Given the description of an element on the screen output the (x, y) to click on. 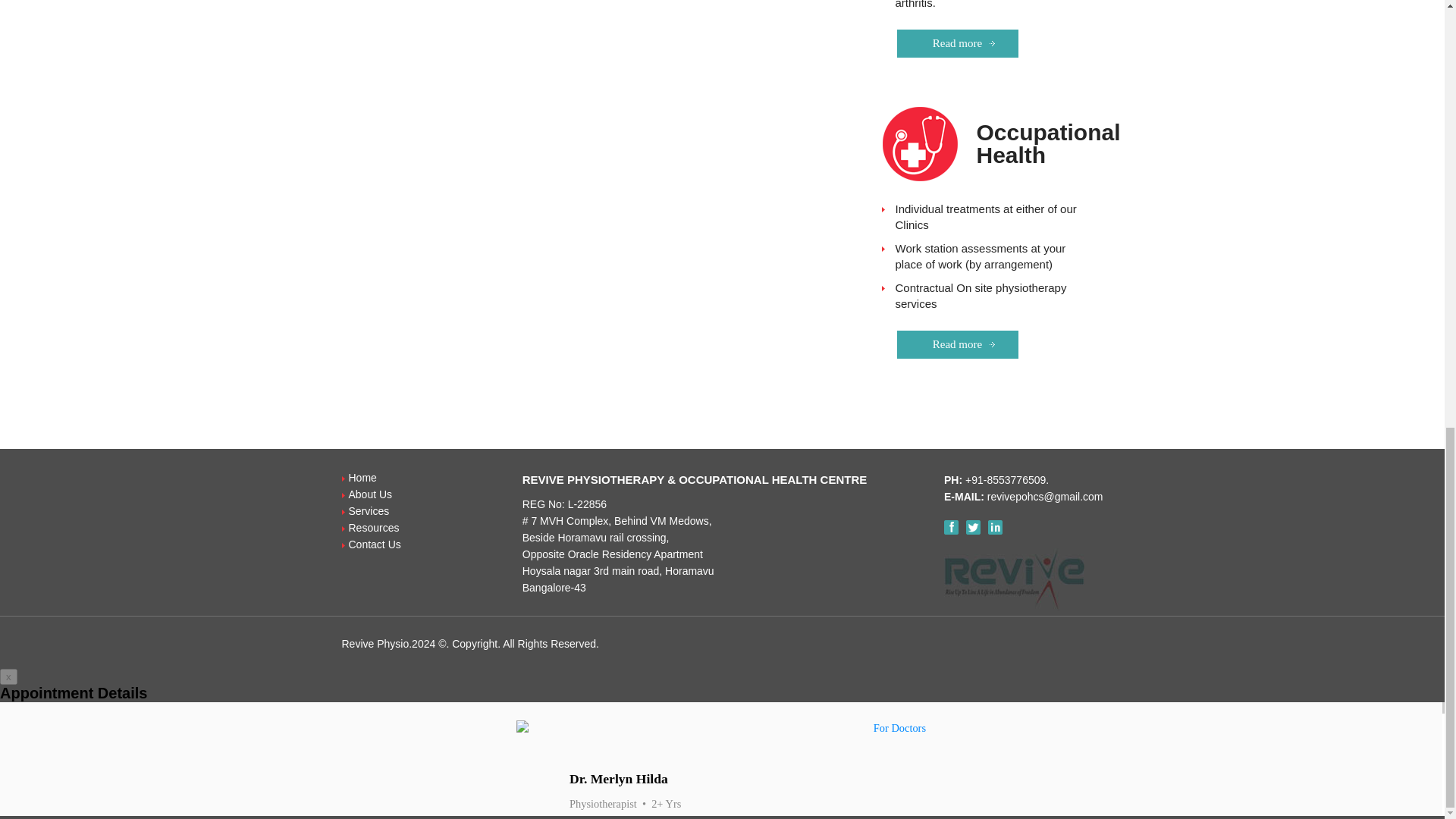
x (8, 676)
Read more (956, 344)
Home (363, 477)
Services (369, 510)
Resources (373, 527)
About Us (371, 494)
Contact Us (375, 544)
Read more (956, 43)
